Given the description of an element on the screen output the (x, y) to click on. 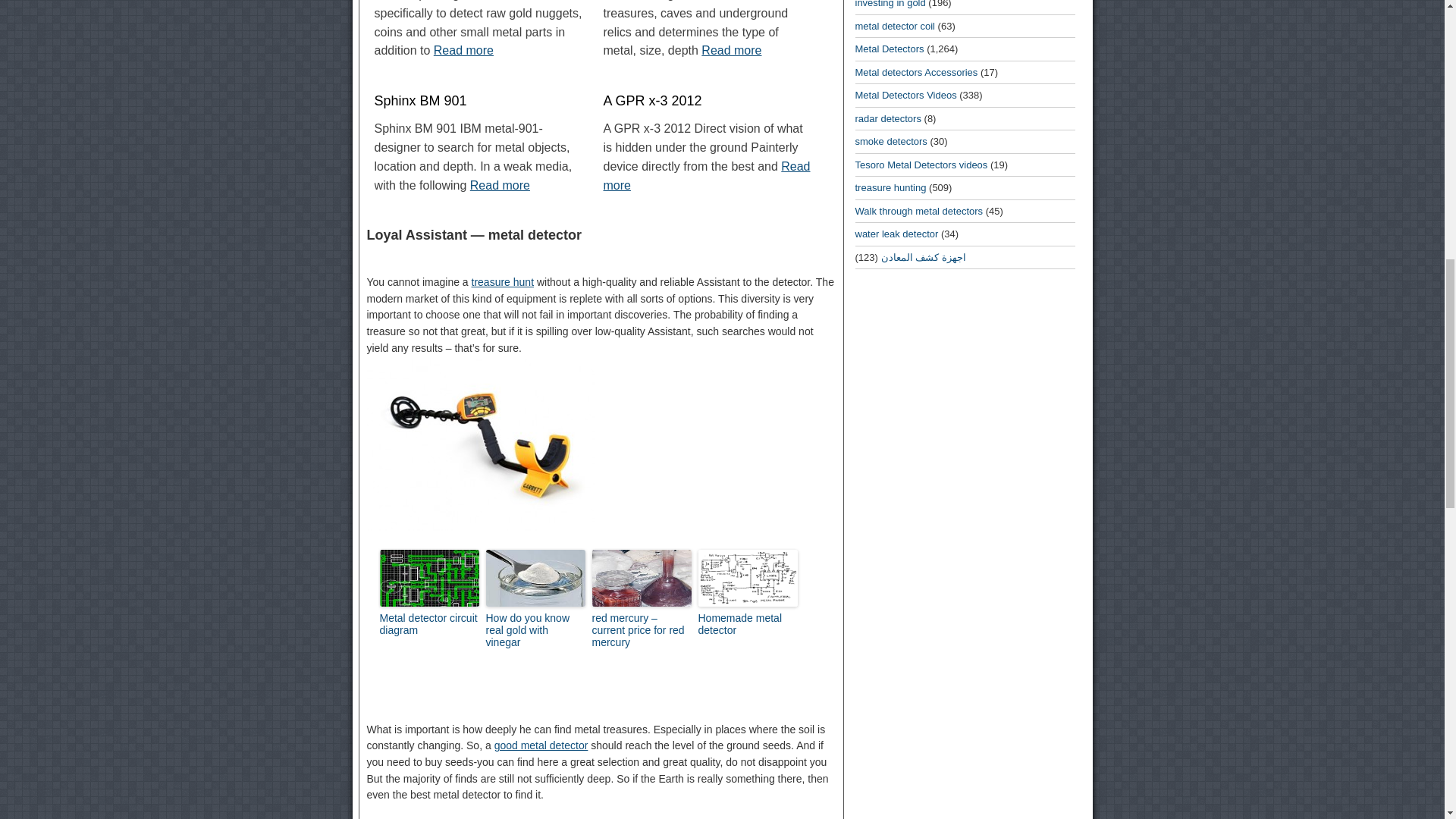
good metal detector (541, 745)
Homemade metal detector (746, 623)
A GPR x-3 2012 (707, 101)
Metal detector circuit diagram (428, 577)
Read more (499, 185)
Italy. More and more treasure hunters on beaches (502, 282)
Metal detector circuit diagram (428, 630)
Read more (705, 175)
A GPR x-3 2012 (707, 101)
Read more (463, 50)
